Given the description of an element on the screen output the (x, y) to click on. 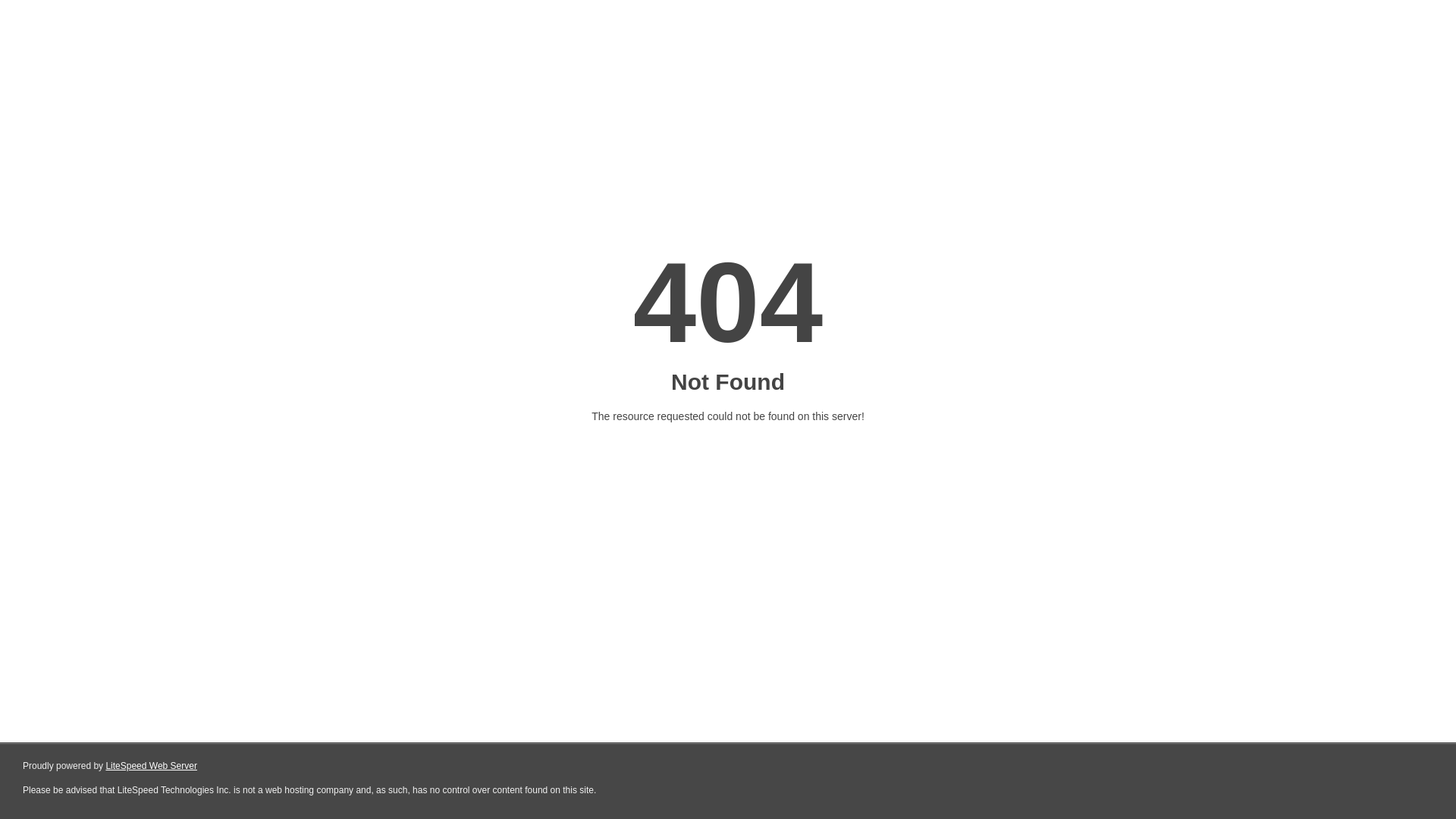
LiteSpeed Web Server Element type: text (151, 765)
